Given the description of an element on the screen output the (x, y) to click on. 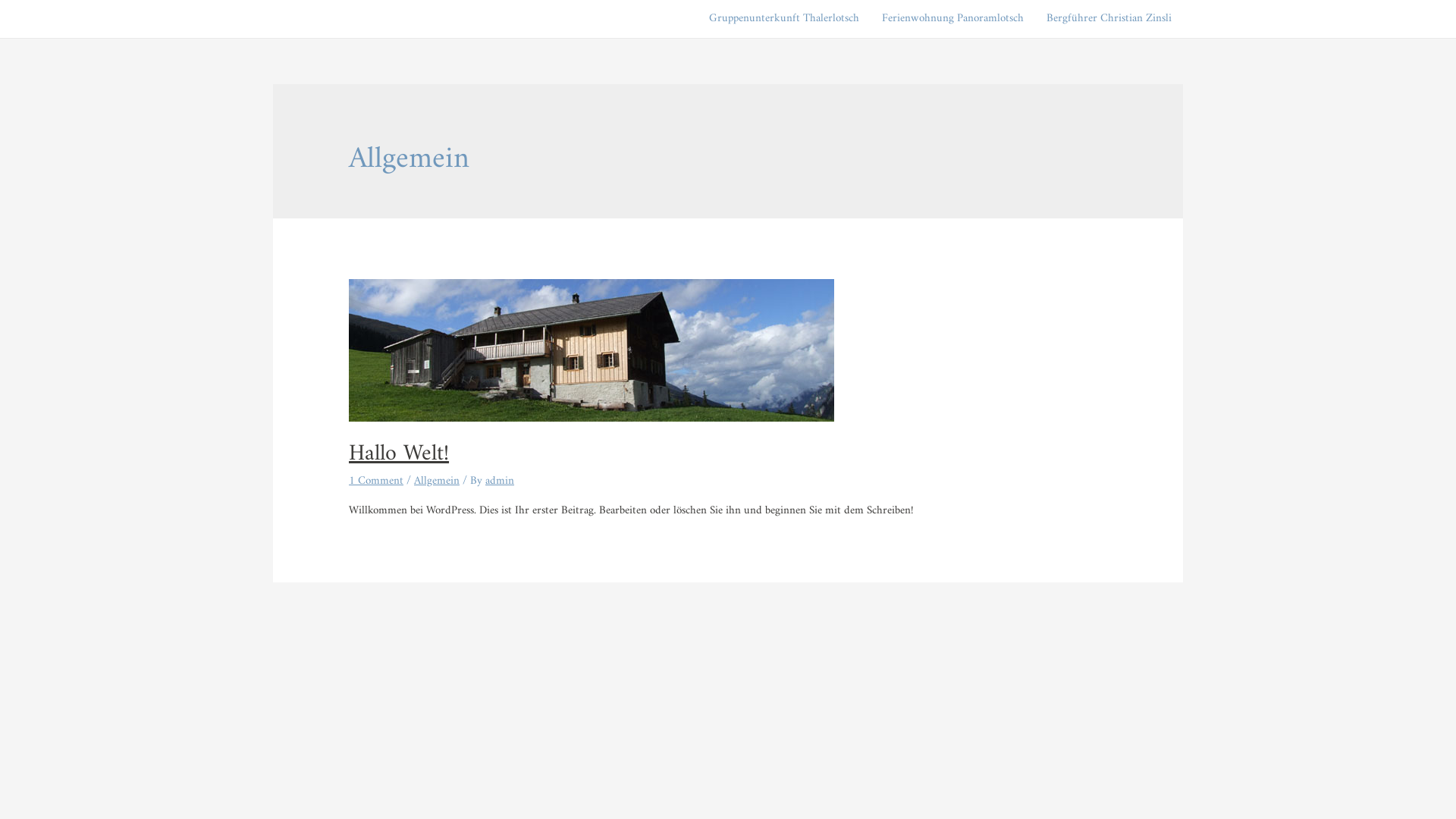
Hallo Welt! Element type: text (398, 453)
Allgemein Element type: text (436, 480)
admin Element type: text (499, 480)
Ferienwohnung Panoramlotsch Element type: text (952, 18)
Gruppenunterkunft Thalerlotsch Element type: text (783, 18)
1 Comment Element type: text (375, 480)
